Given the description of an element on the screen output the (x, y) to click on. 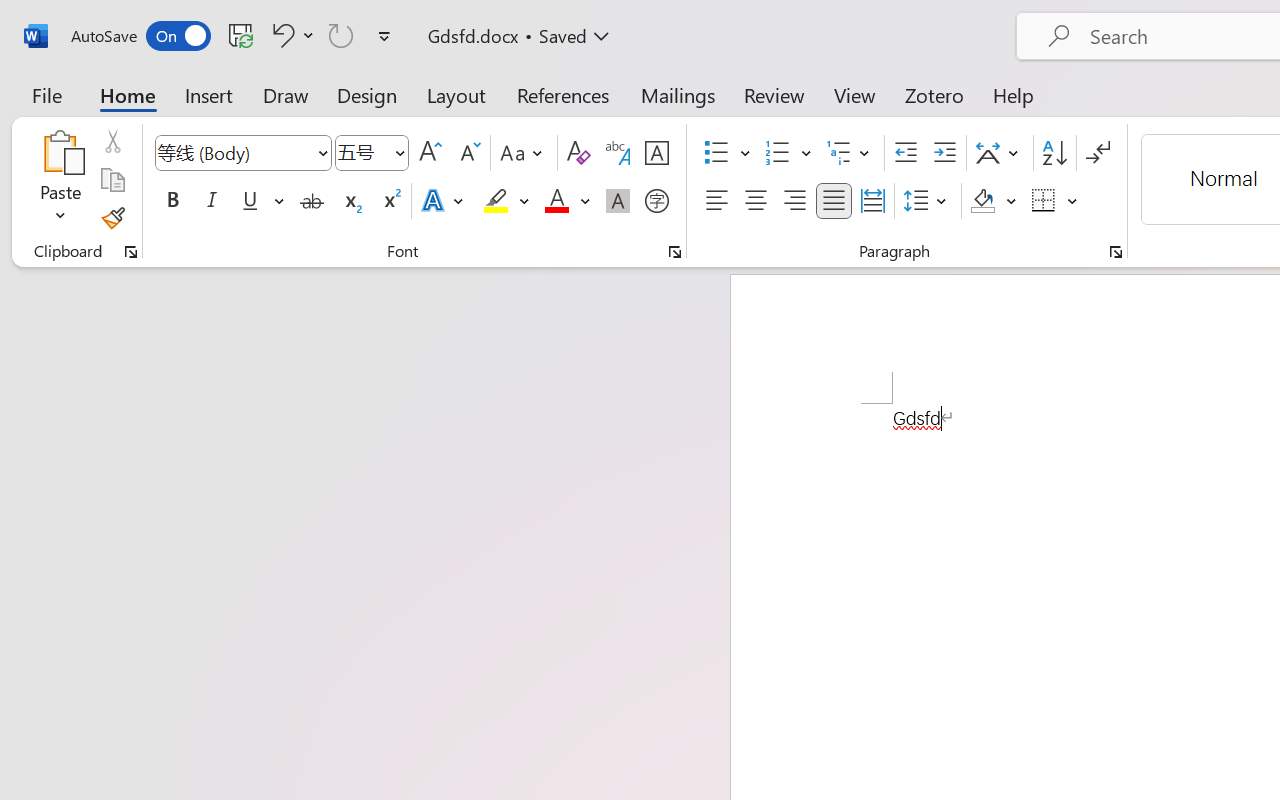
Shading RGB(0, 0, 0) (982, 201)
Align Right (794, 201)
Undo Style (280, 35)
Grow Font (430, 153)
Show/Hide Editing Marks (1098, 153)
Font Color Red (556, 201)
